Given the description of an element on the screen output the (x, y) to click on. 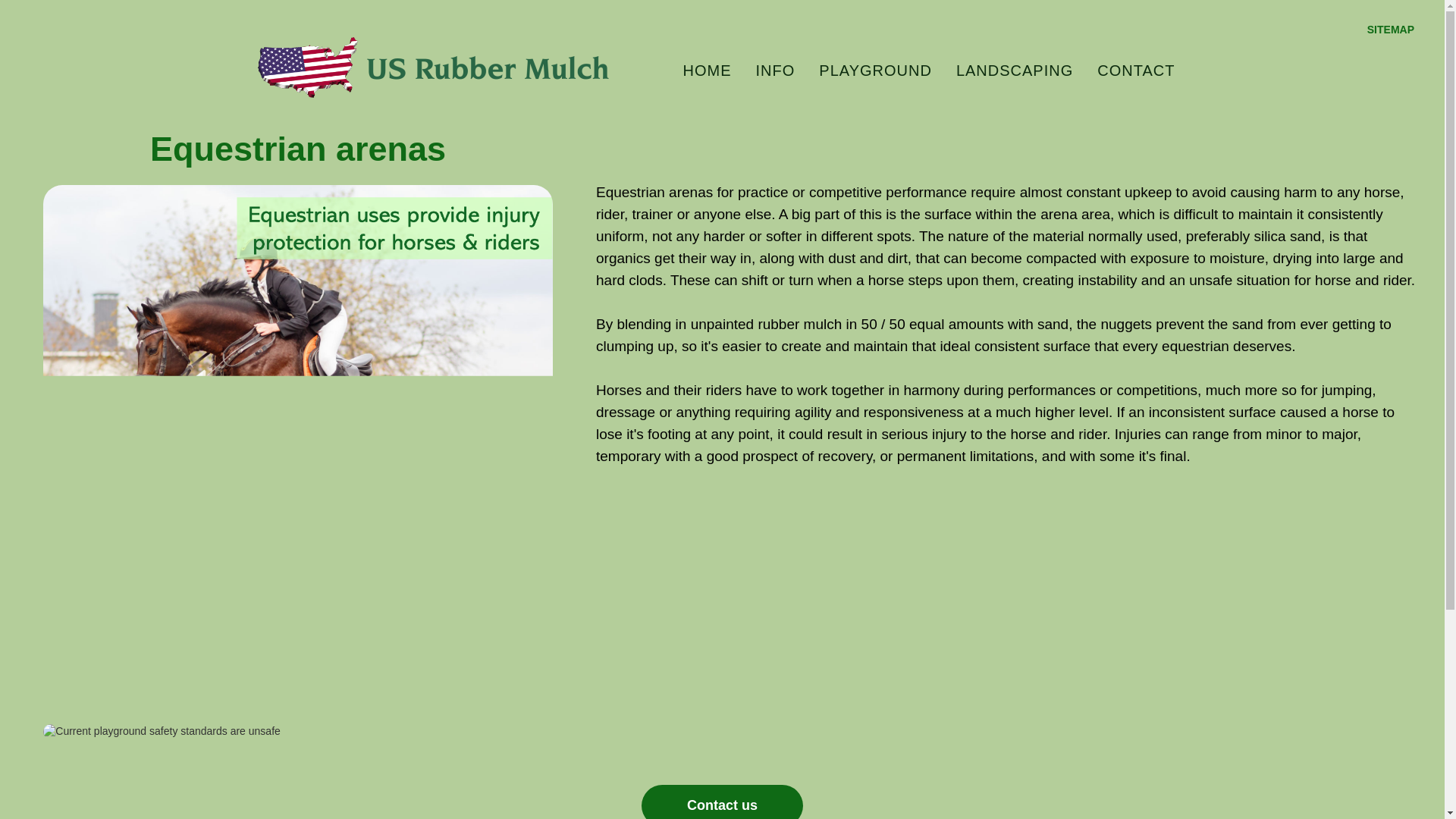
PLAYGROUND (874, 70)
SITEMAP (1390, 29)
USRM Flag Logo (307, 66)
Current playground safety standards are unsafe (297, 731)
CONTACT (1135, 70)
INFO (776, 70)
HOME (707, 70)
Contact us (722, 801)
LANDSCAPING (1013, 70)
